Given the description of an element on the screen output the (x, y) to click on. 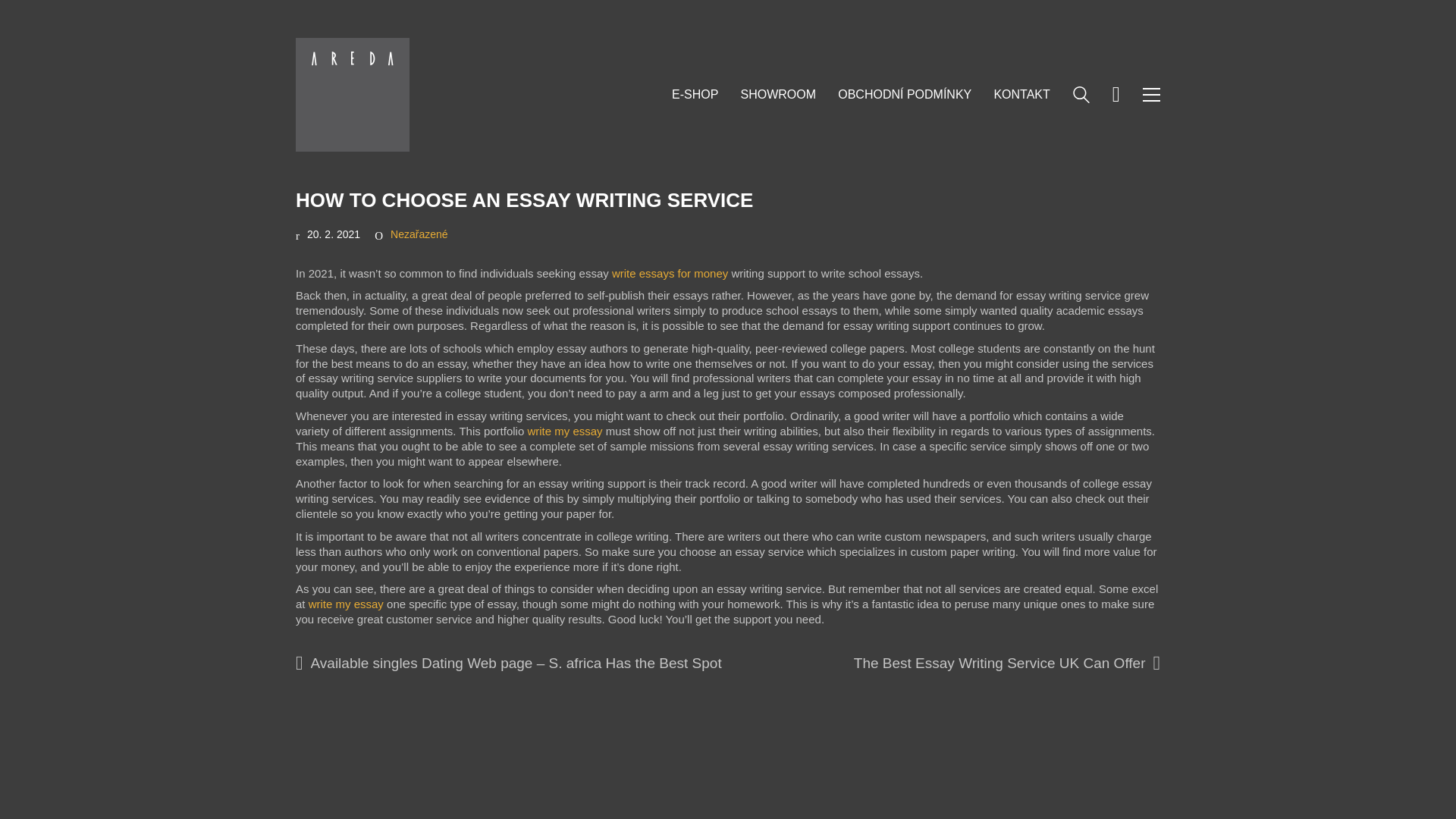
SHOWROOM (777, 94)
Instagram (1069, 773)
E-SHOP (694, 94)
Pinterest (1107, 773)
write essays for money (669, 273)
Behance (1144, 773)
write my essay (564, 431)
Facebook (1031, 773)
KONTAKT (1020, 94)
